Given the description of an element on the screen output the (x, y) to click on. 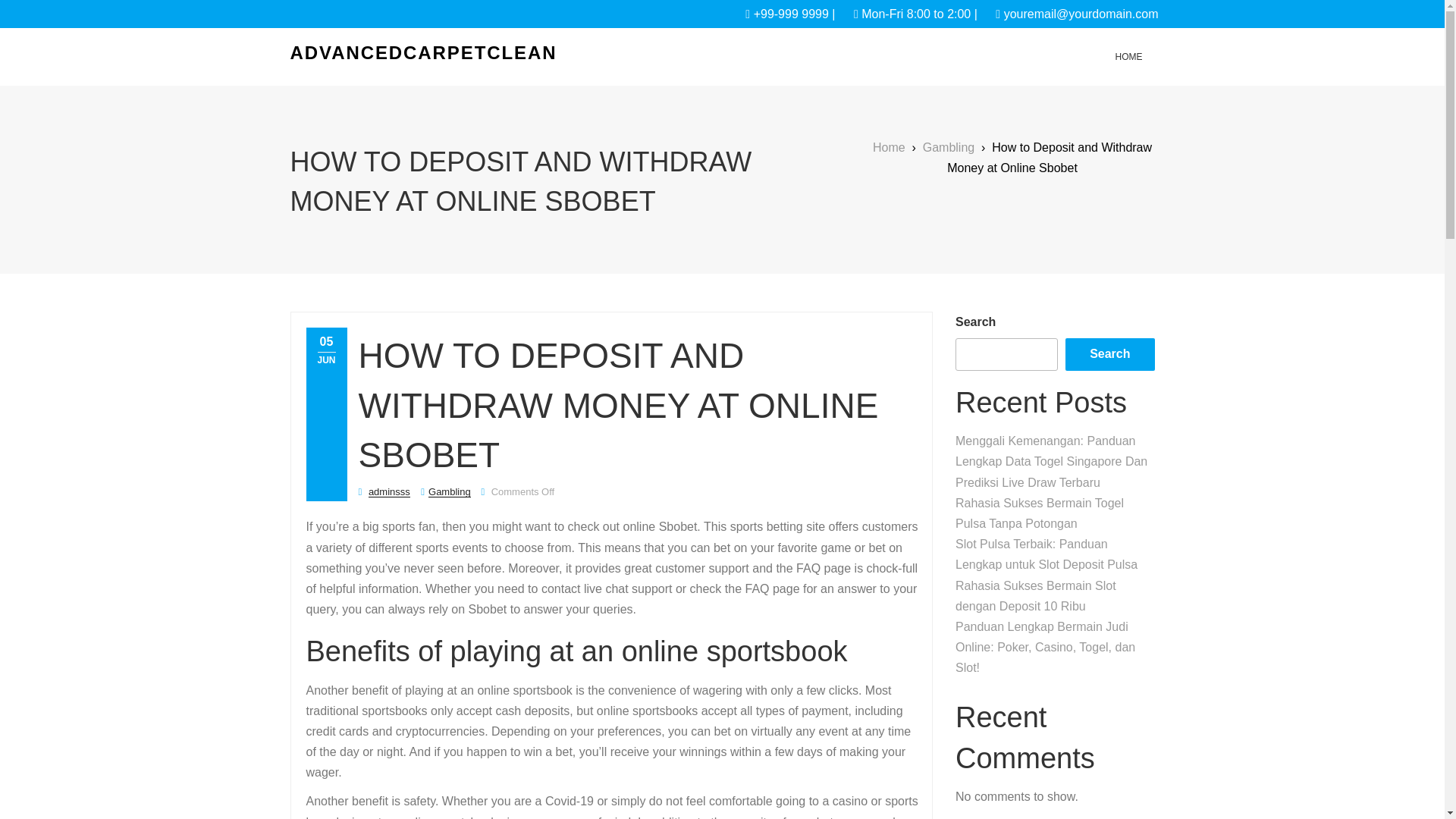
Home (888, 146)
Home (1128, 56)
Rahasia Sukses Bermain Slot dengan Deposit 10 Ribu (1035, 595)
Search (1109, 354)
Gambling (449, 491)
adminsss (389, 491)
Rahasia Sukses Bermain Togel Pulsa Tanpa Potongan (1039, 512)
HOME (1128, 56)
Slot Pulsa Terbaik: Panduan Lengkap untuk Slot Deposit Pulsa (1046, 553)
Gambling (948, 146)
ADVANCEDCARPETCLEAN (422, 52)
